Given the description of an element on the screen output the (x, y) to click on. 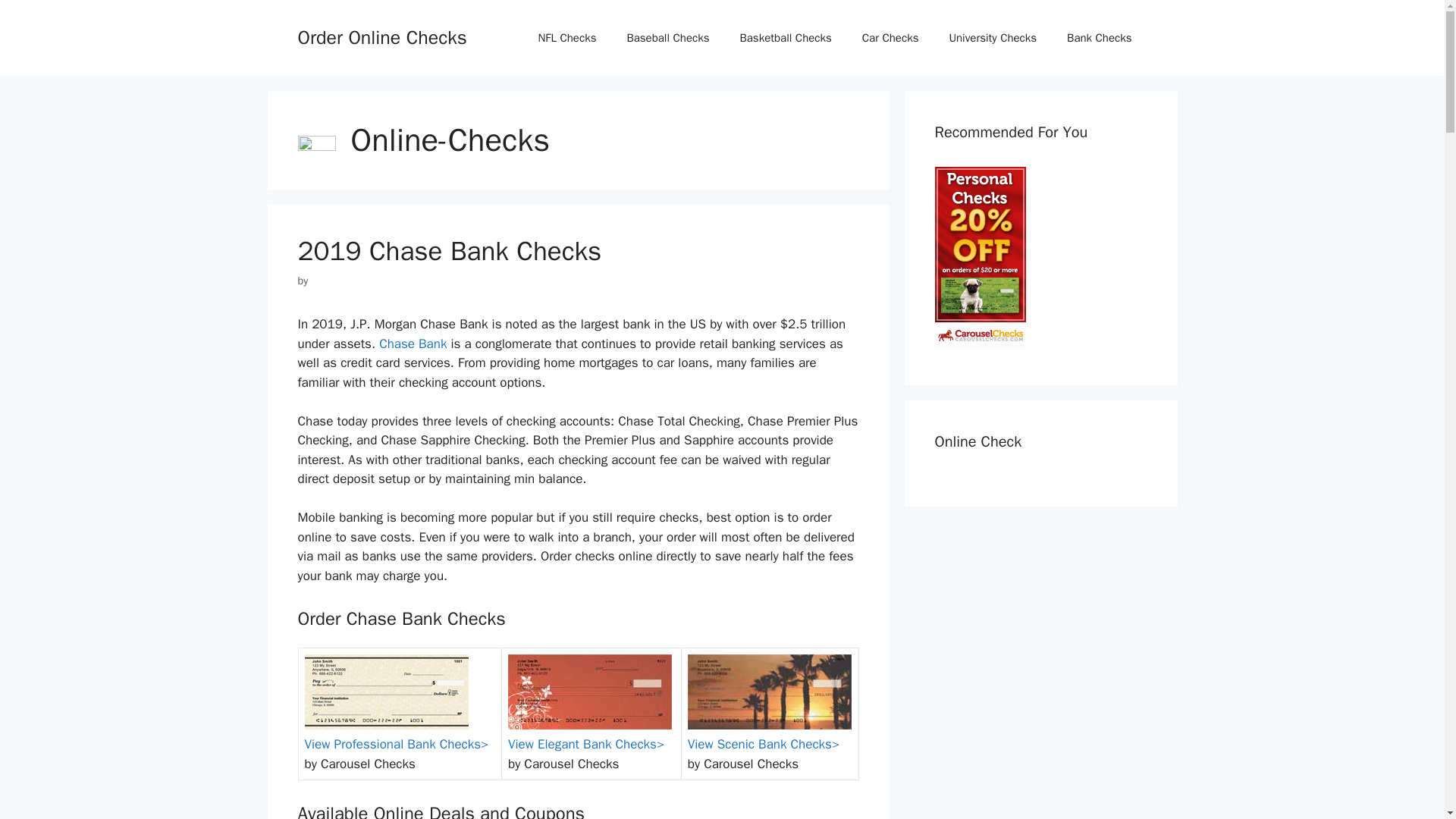
Baseball Checks (667, 37)
2019 Chase Bank Checks (449, 250)
University Checks (992, 37)
Basketball Checks (784, 37)
Island Paradise Personal Bank Checks (769, 691)
Basketball Checks (784, 37)
Baseball Checks (667, 37)
Order Online Checks (381, 37)
NFL Checks (566, 37)
Parchment Personal Bank Checks (386, 691)
Bank Checks (1099, 37)
Car Checks (890, 37)
NFL Checks (566, 37)
Chase Bank (412, 343)
